Given the description of an element on the screen output the (x, y) to click on. 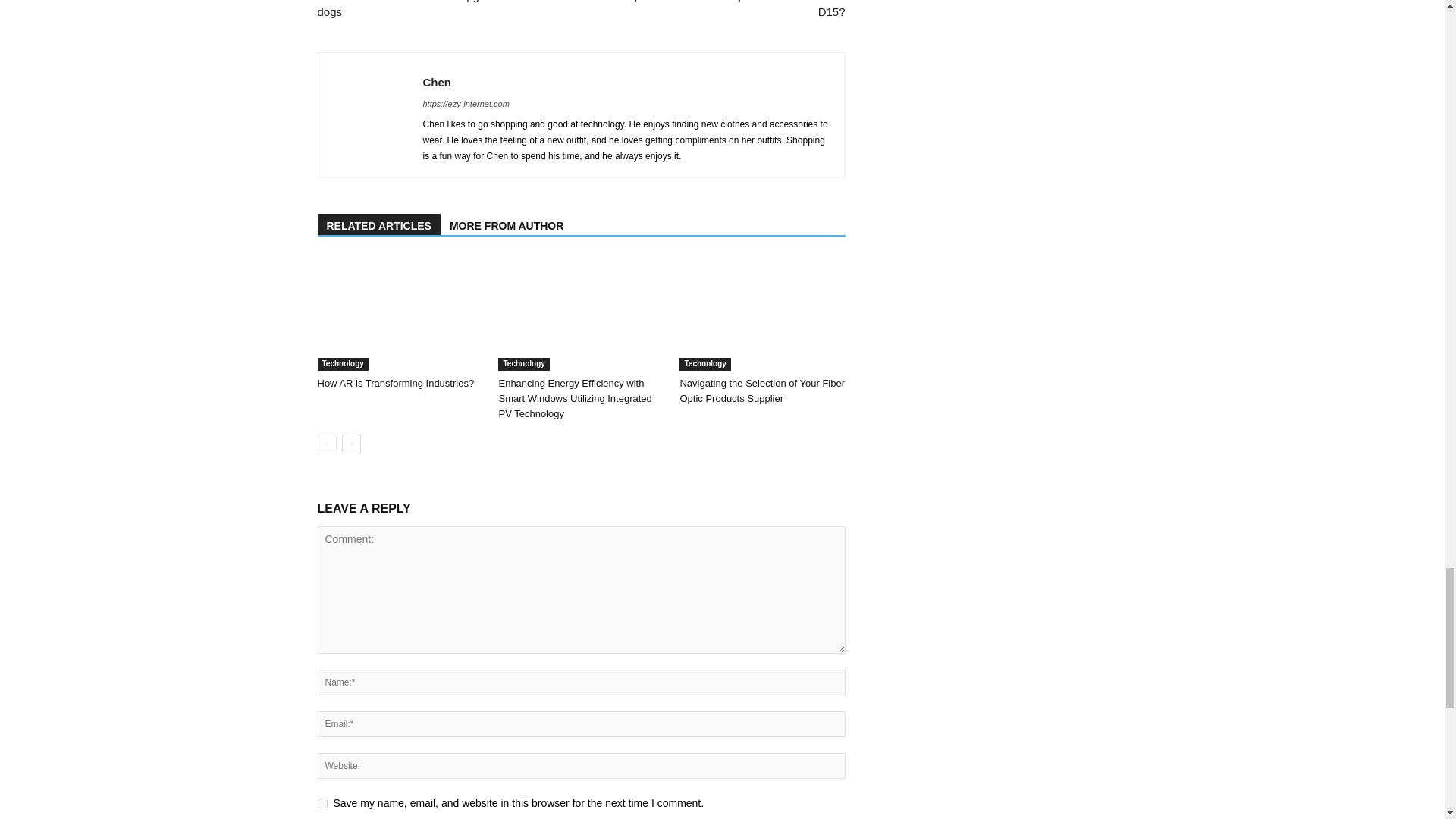
How AR is Transforming Industries? (399, 314)
Sherwood Forest set for 5G upgrade and robot dogs (439, 9)
Why do You Need to Buy HUAWEI MateBook D15? (721, 9)
yes (321, 803)
Chen (437, 82)
How AR is Transforming Industries? (395, 383)
